Given the description of an element on the screen output the (x, y) to click on. 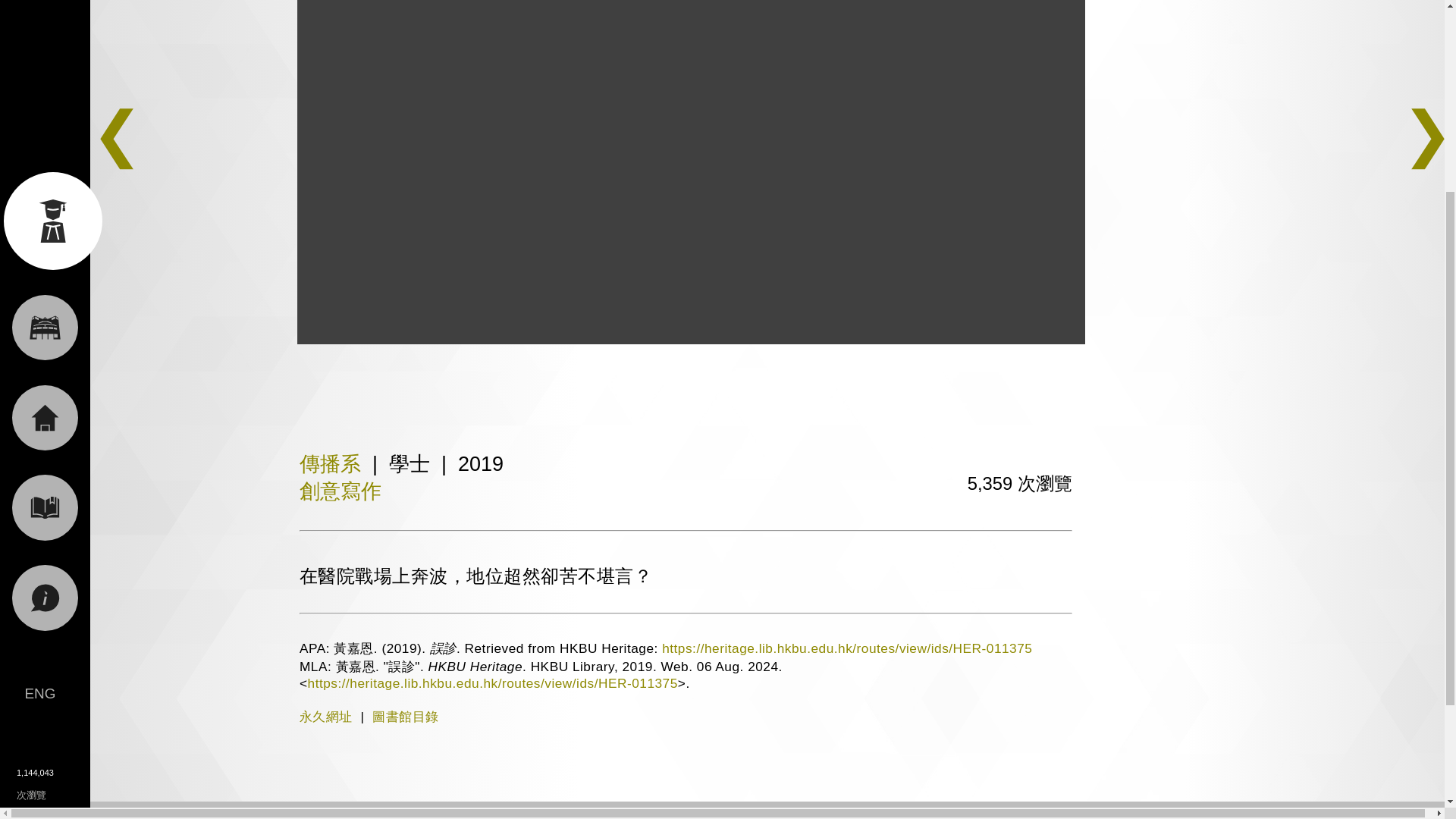
ENG (40, 409)
